Given the description of an element on the screen output the (x, y) to click on. 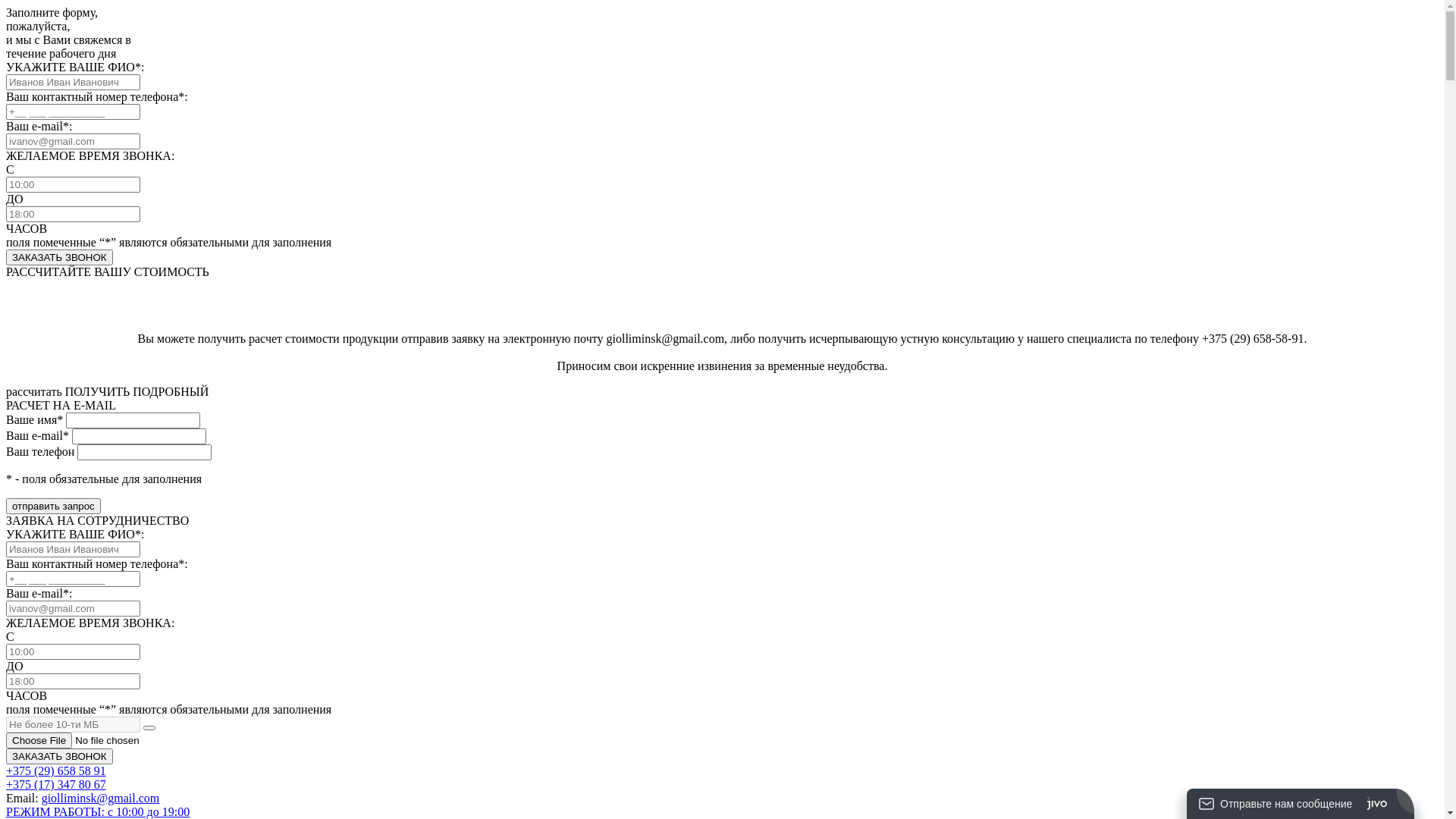
giolliminsk@gmail.com Element type: text (100, 797)
+375 (17) 347 80 67 Element type: text (56, 784)
+375 (29) 658 58 91 Element type: text (56, 770)
